Given the description of an element on the screen output the (x, y) to click on. 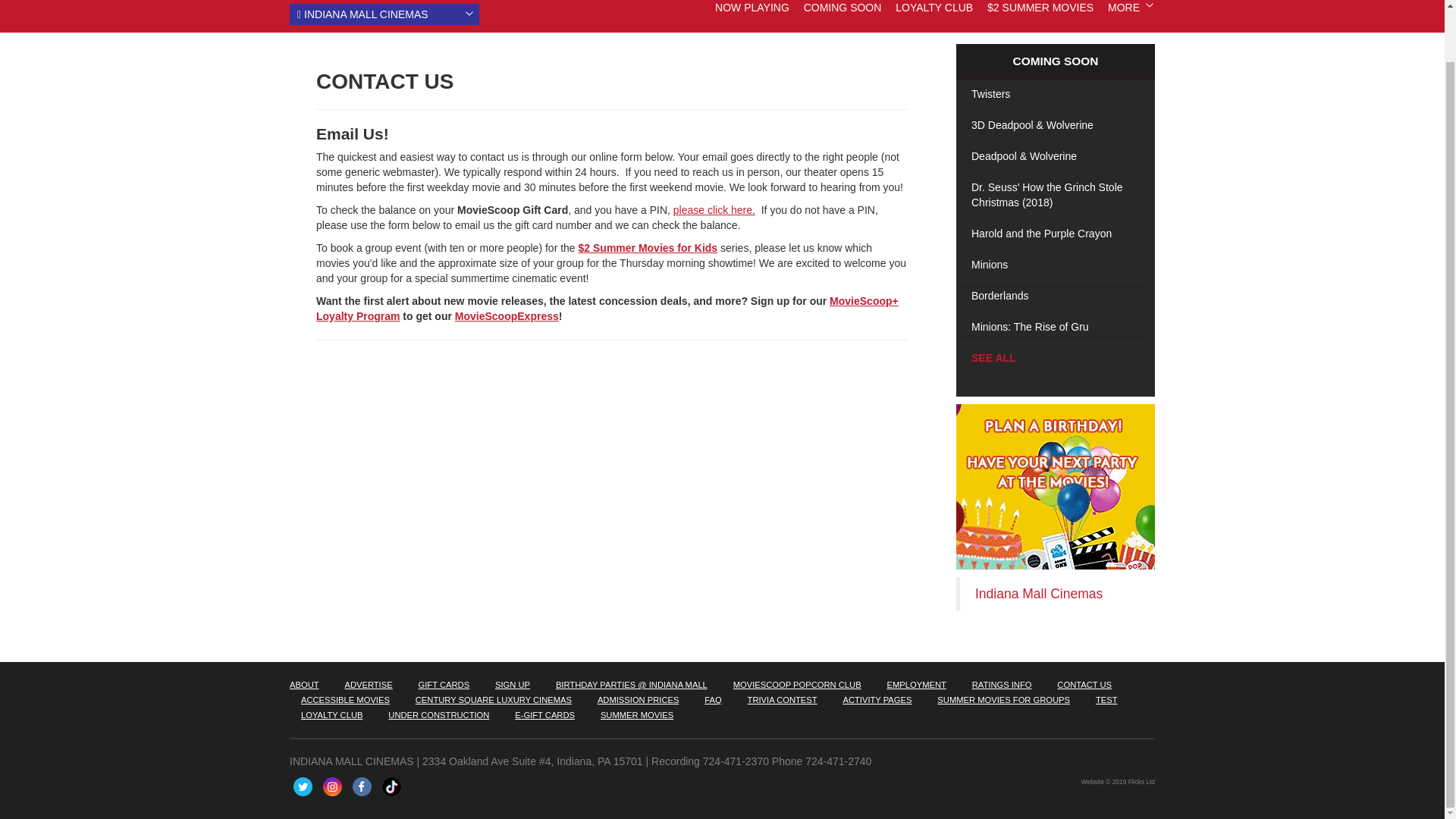
LOYALTY CLUB (933, 7)
COMING SOON (842, 7)
MORE (1124, 7)
NOW PLAYING (751, 7)
INDIANA MALL CINEMAS (384, 14)
